Given the description of an element on the screen output the (x, y) to click on. 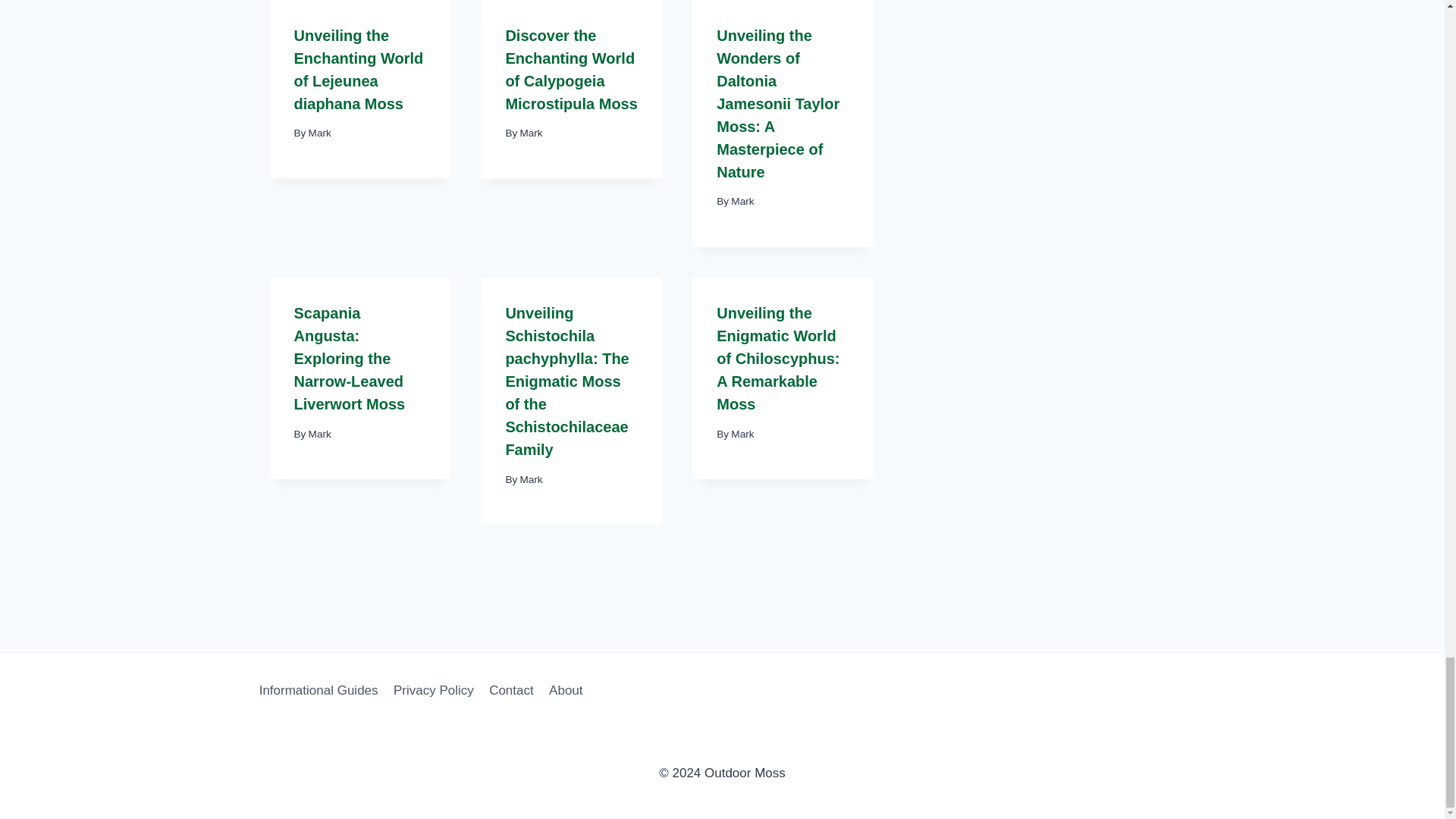
Mark (319, 132)
Unveiling the Enchanting World of Lejeunea diaphana Moss (358, 69)
